Given the description of an element on the screen output the (x, y) to click on. 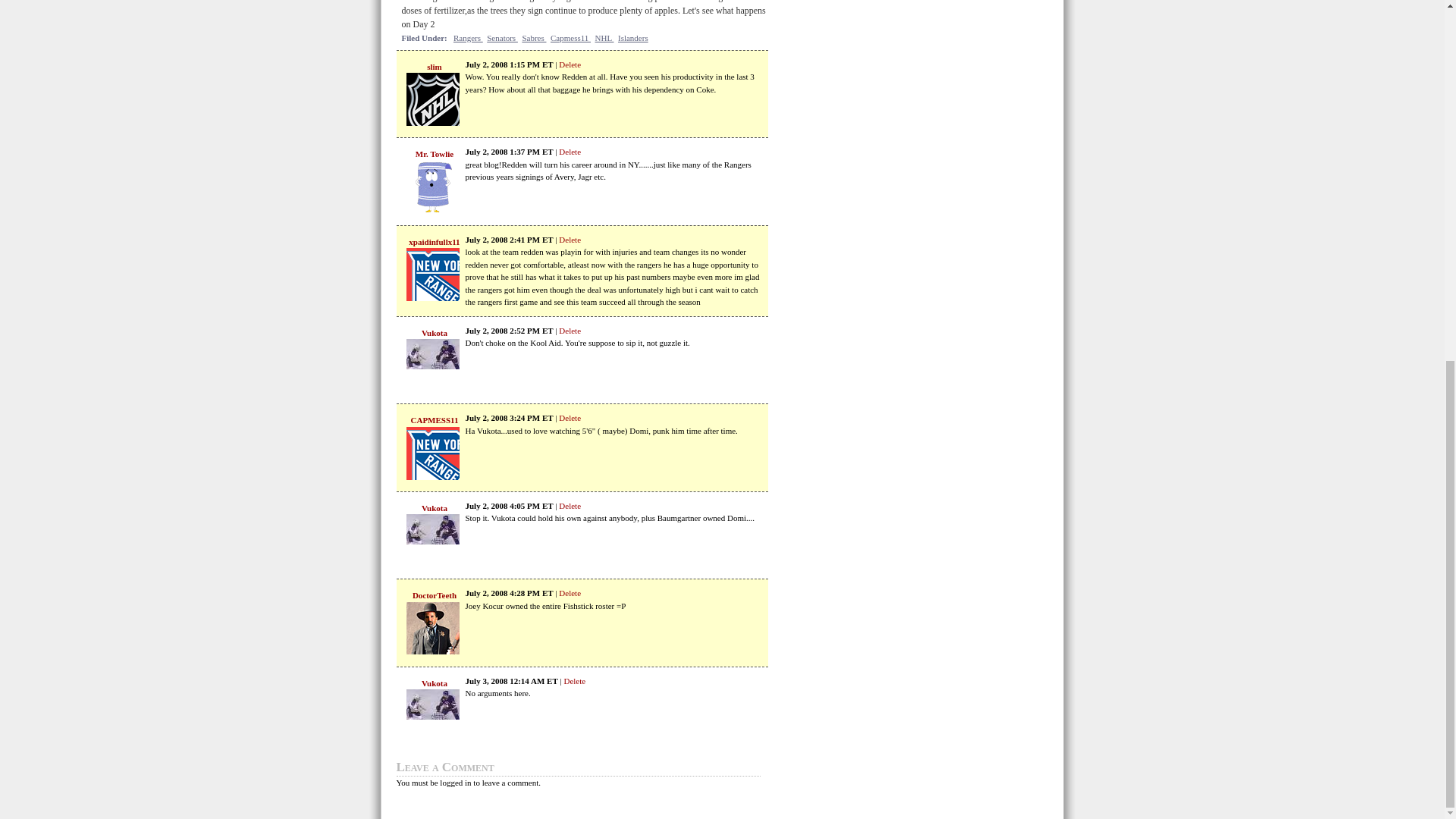
Vukota (434, 507)
DoctorTeeth (434, 594)
Vukota (434, 331)
Senators (502, 37)
Delete (569, 504)
Islanders (632, 37)
slim (434, 66)
CAPMESS11 (434, 420)
Capmess11 (570, 37)
Delete (569, 239)
